Given the description of an element on the screen output the (x, y) to click on. 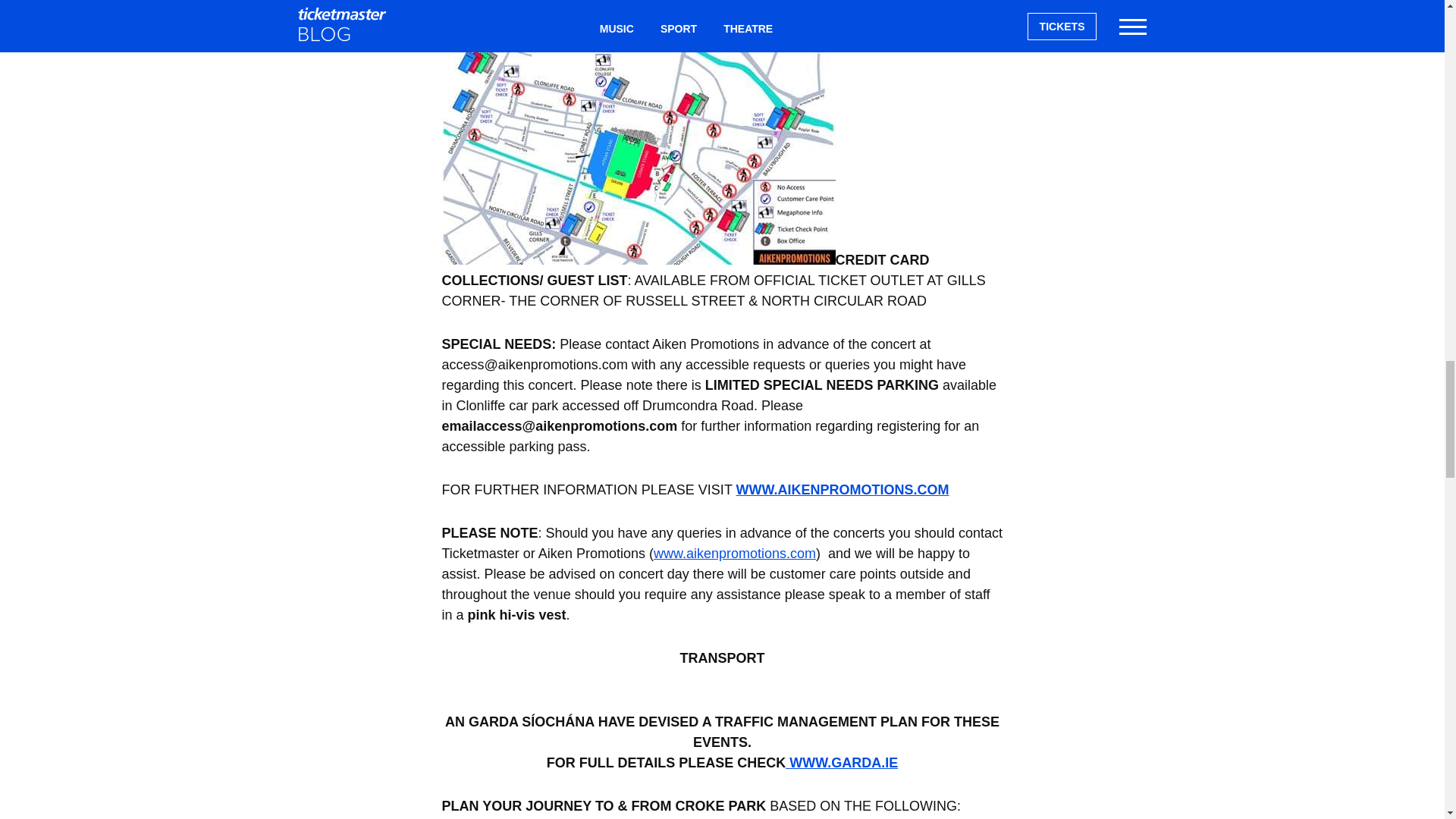
www.aikenpromotions.com (734, 553)
WWW.AIKENPROMOTIONS.COM (842, 489)
WWW.GARDA.IE (842, 762)
